Given the description of an element on the screen output the (x, y) to click on. 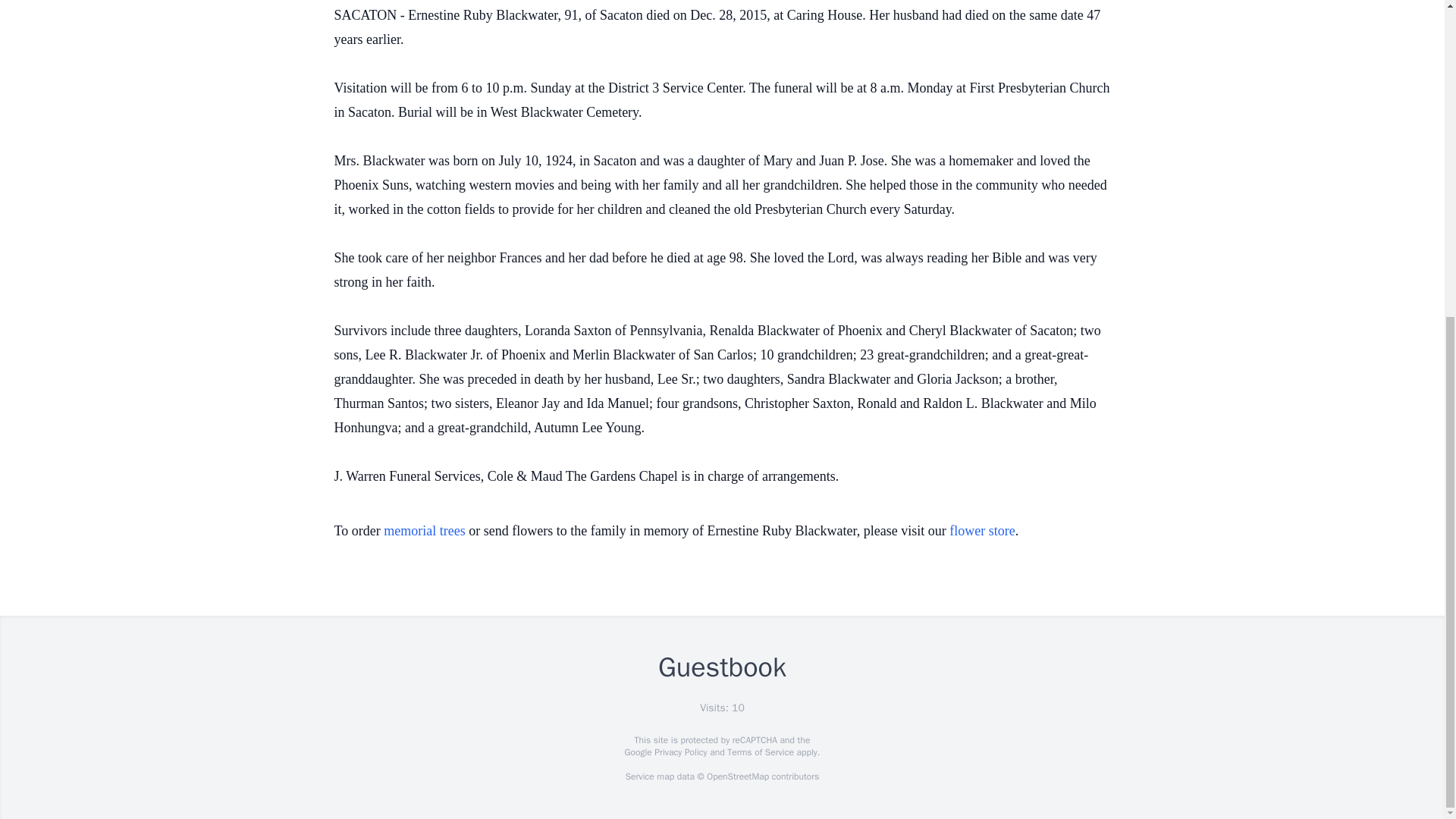
Privacy Policy (679, 752)
OpenStreetMap (737, 776)
memorial trees (424, 530)
Terms of Service (759, 752)
flower store (981, 530)
